Given the description of an element on the screen output the (x, y) to click on. 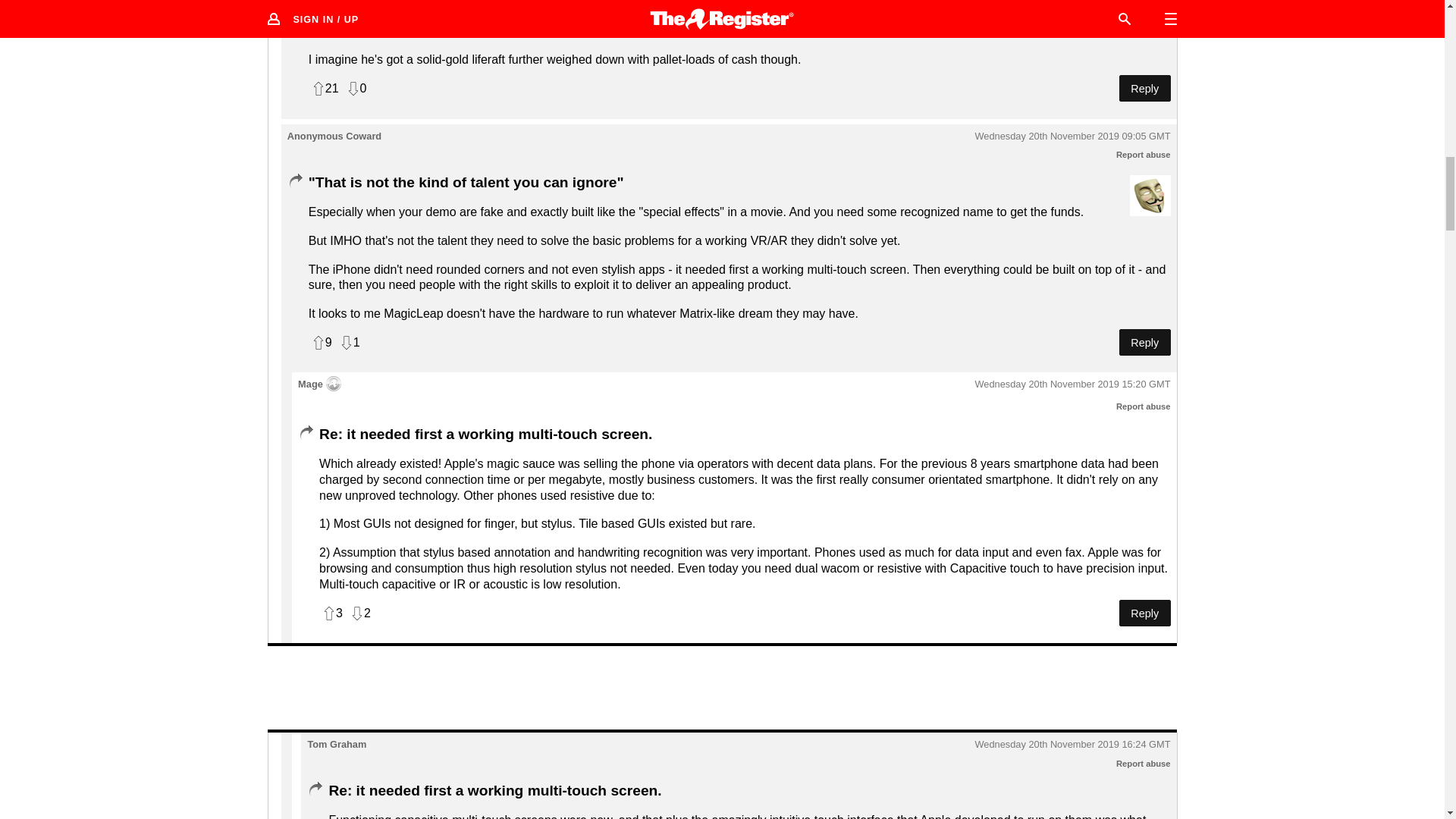
Report abuse (1143, 406)
Report abuse (1143, 763)
Report abuse (1143, 153)
